Given the description of an element on the screen output the (x, y) to click on. 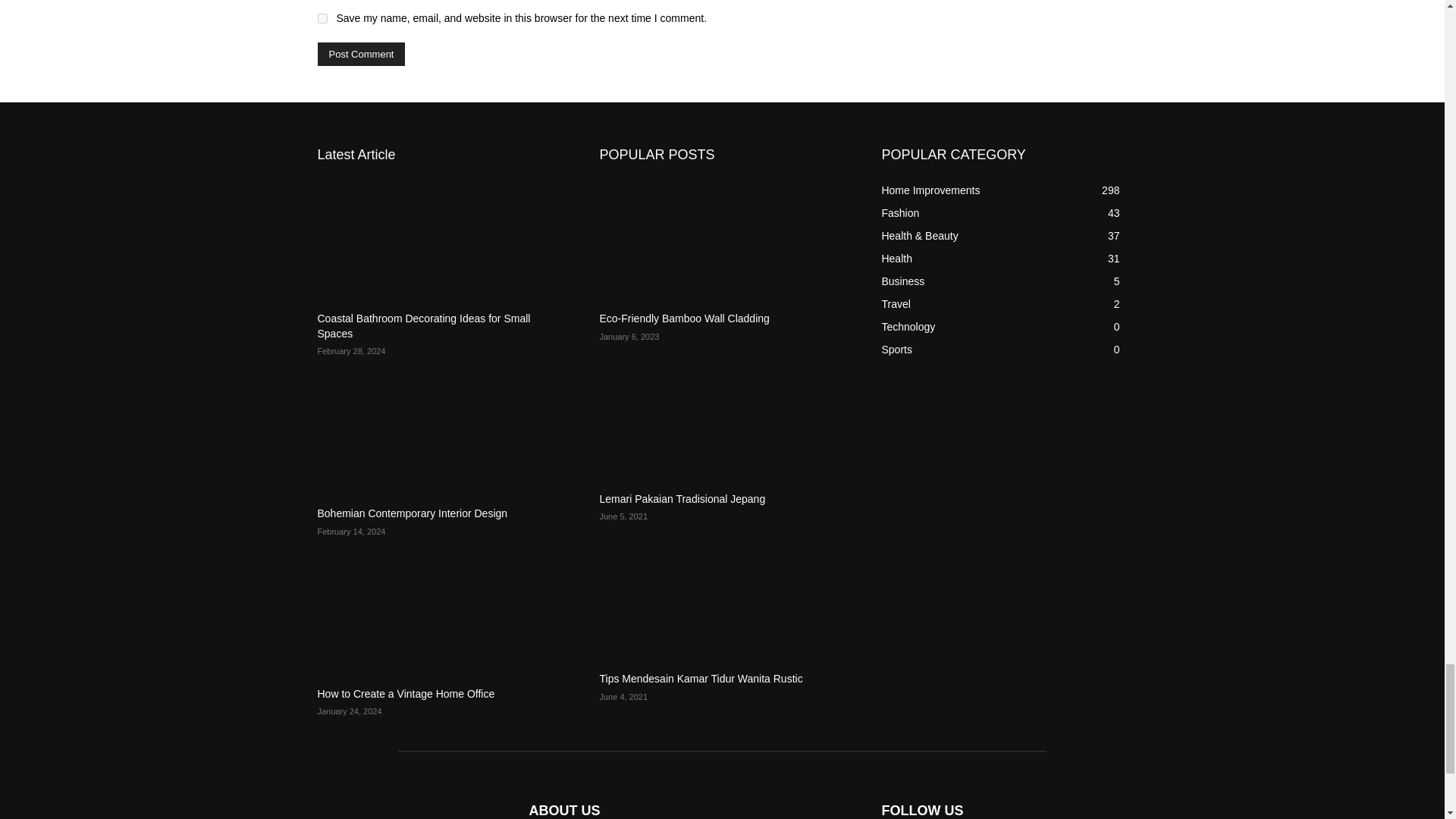
yes (321, 18)
Post Comment (360, 54)
